Given the description of an element on the screen output the (x, y) to click on. 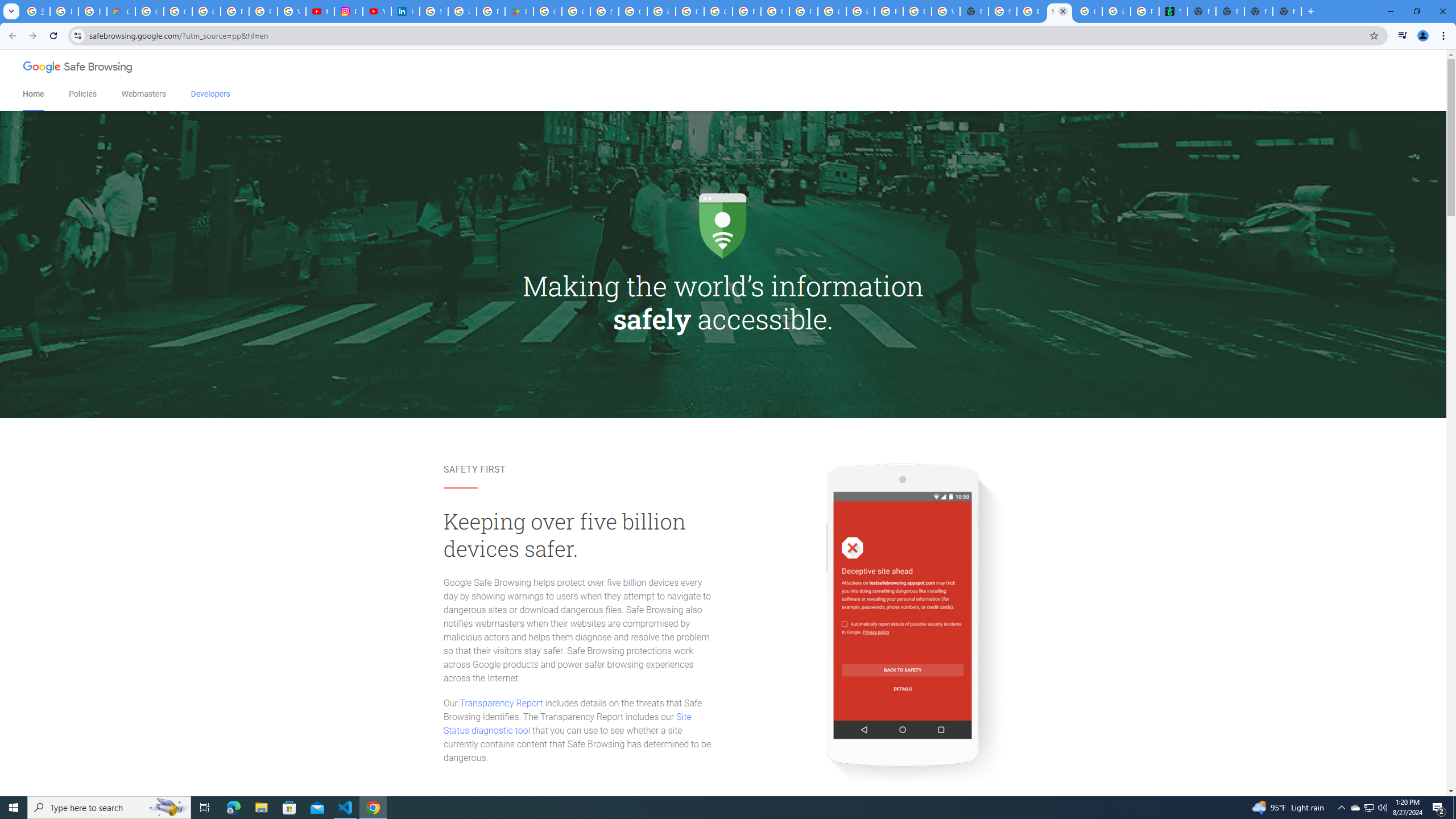
Google Safe Browsing (78, 68)
Google Cloud Platform (661, 11)
Site Status diagnostic tool (566, 723)
Transparency Report (501, 703)
Google Cloud Platform (860, 11)
Google Cloud Platform (831, 11)
